Given the description of an element on the screen output the (x, y) to click on. 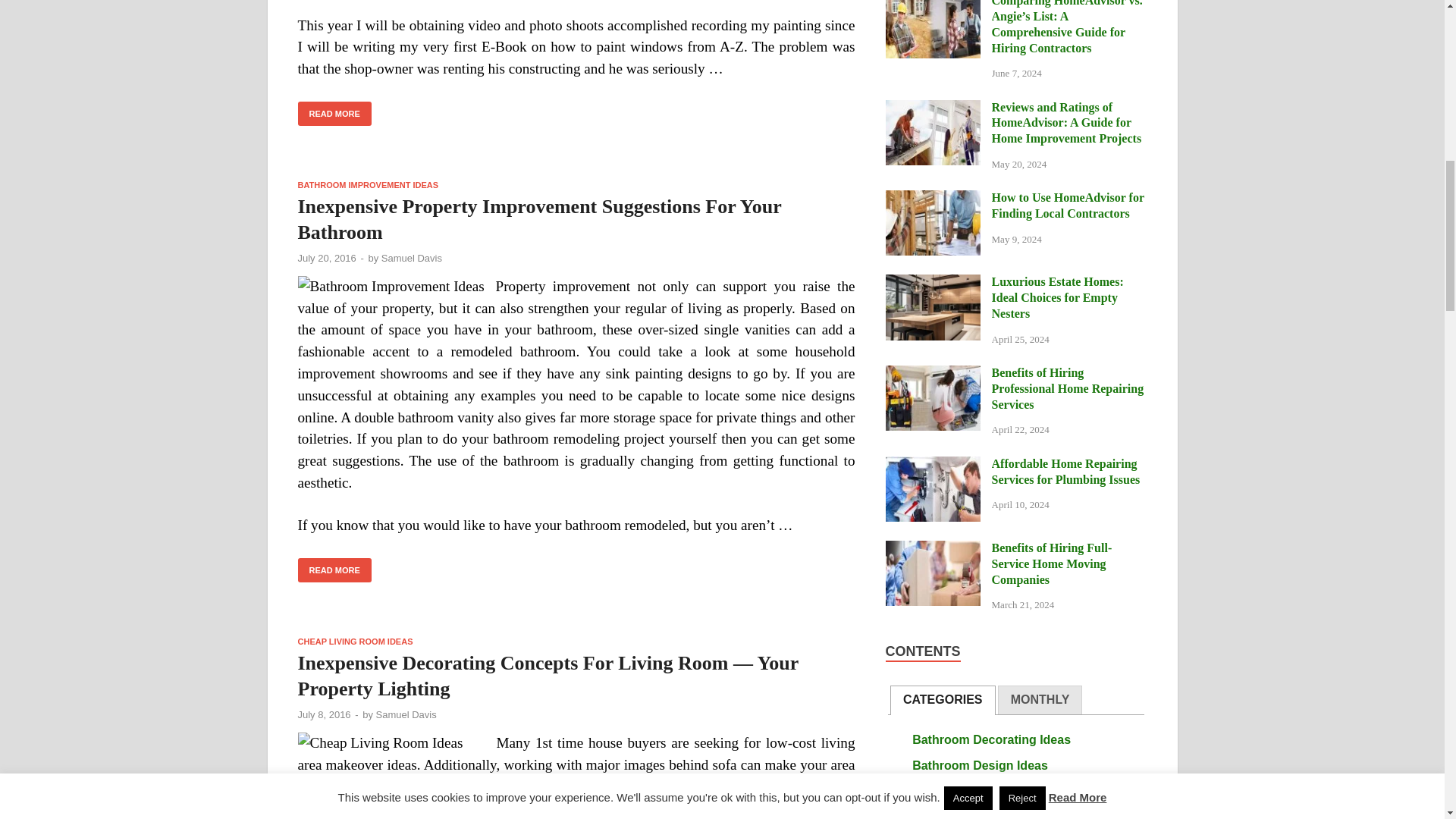
Benefits of Hiring Full-Service Home Moving Companies (932, 549)
Luxurious Estate Homes: Ideal Choices for Empty Nesters (932, 282)
How to Use HomeAdvisor for Finding Local Contractors (932, 198)
Benefits of Hiring Professional Home Repairing Services (932, 373)
Affordable Home Repairing Services for Plumbing Issues (932, 464)
